Given the description of an element on the screen output the (x, y) to click on. 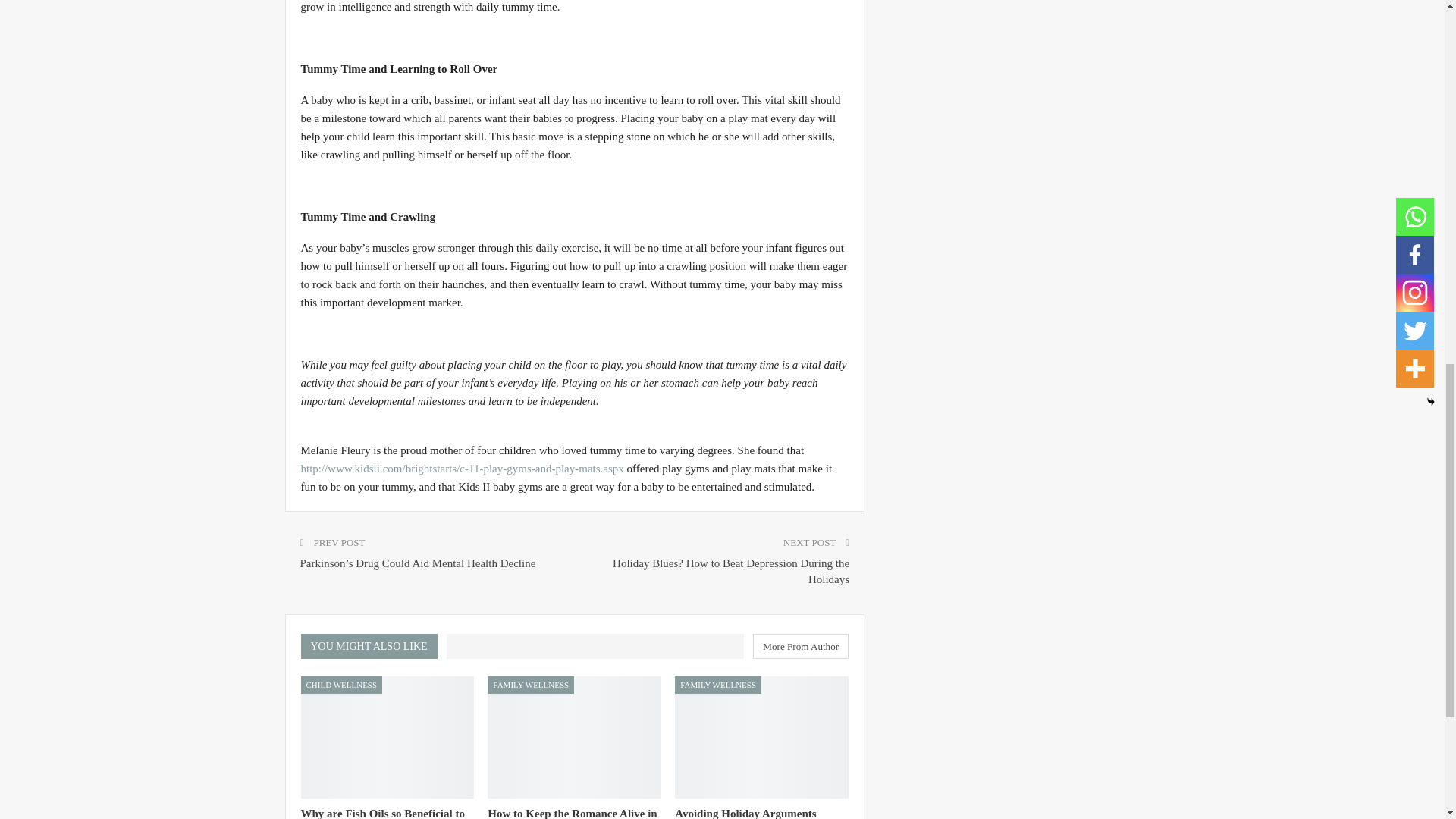
Avoiding Holiday Arguments (745, 813)
Why are Fish Oils so Beneficial to Children? (386, 736)
How to Keep the Romance Alive in Your Relationship (571, 813)
YOU MIGHT ALSO LIKE (372, 645)
Why are Fish Oils so Beneficial to Children? (381, 813)
Avoiding Holiday Arguments (761, 736)
How to Keep the Romance Alive in Your Relationship (574, 736)
Holiday Blues? How to Beat Depression During the Holidays (730, 571)
